Given the description of an element on the screen output the (x, y) to click on. 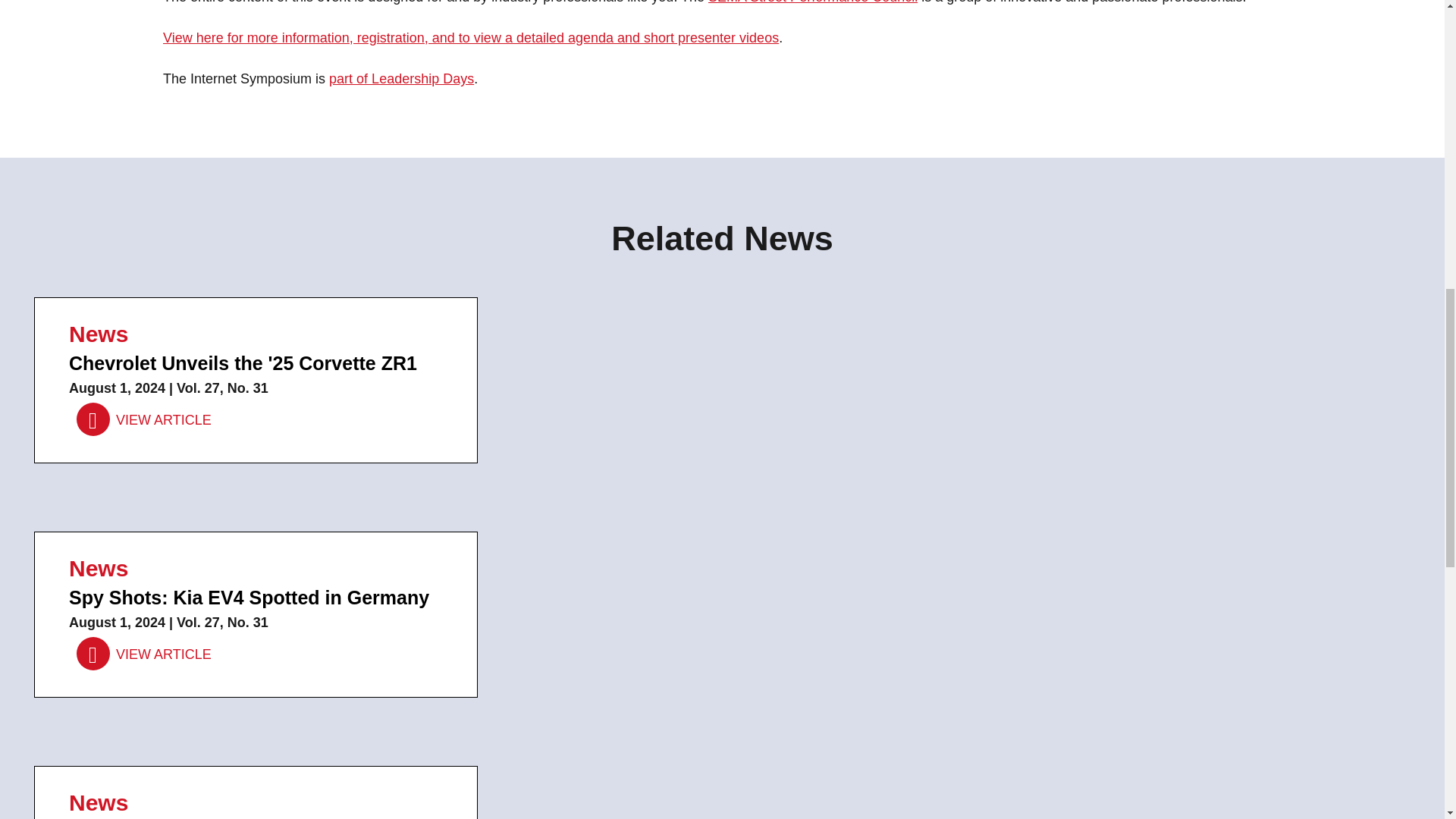
SEMA Street Performance Council (812, 2)
Spy Shots: Kia EV4 Spotted in Germany (143, 654)
VIEW ARTICLE (143, 419)
VIEW ARTICLE (143, 654)
part of Leadership Days (401, 78)
Chevrolet Unveils the '25 Corvette ZR1 (143, 419)
